Given the description of an element on the screen output the (x, y) to click on. 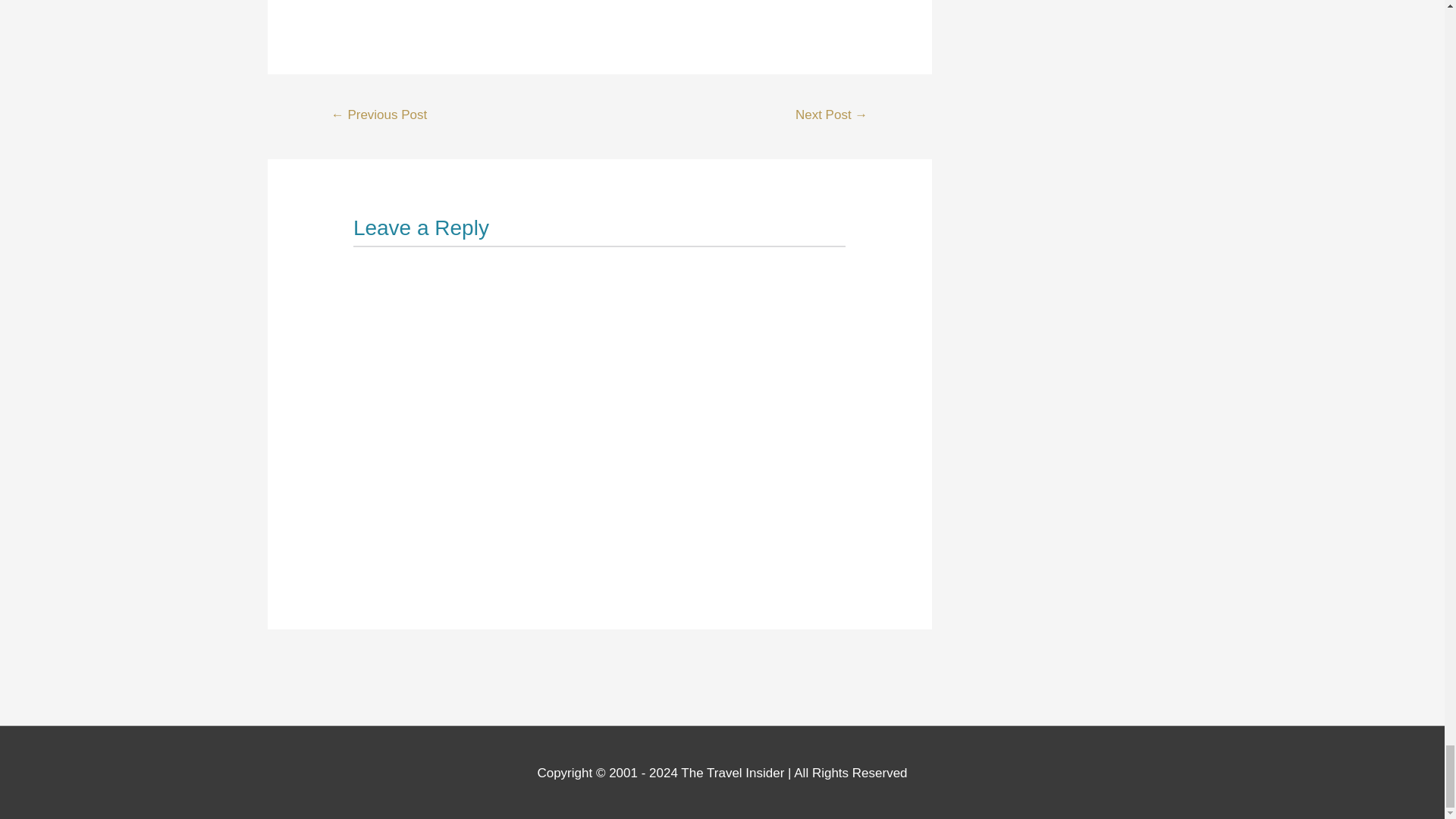
Covid-19 Diary :  Thursday 21 October, 2021 (378, 116)
Covid-19 Diary :  Sunday 24 October, 2021 (831, 116)
